Given the description of an element on the screen output the (x, y) to click on. 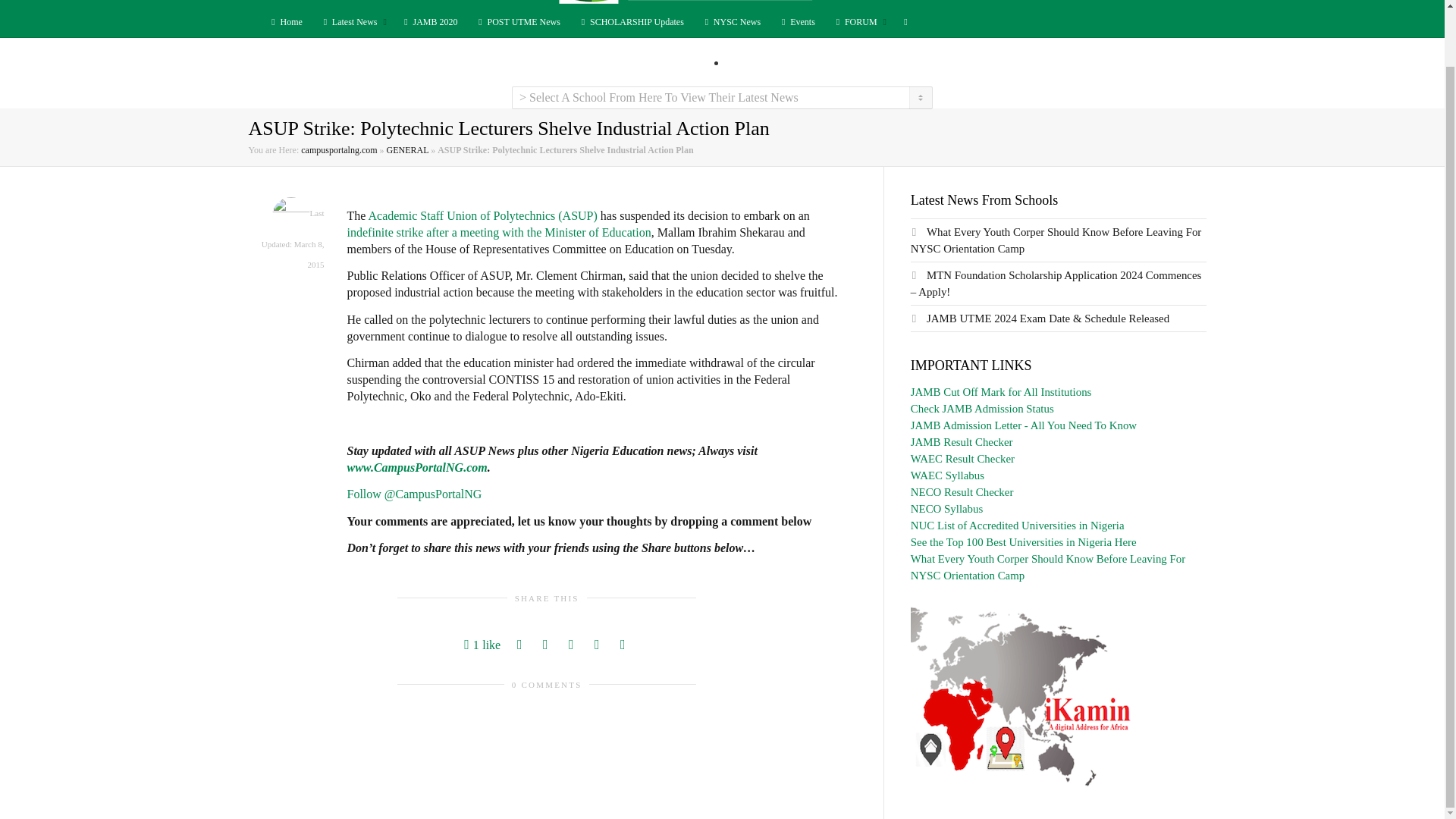
www.CampusPortalNG.com (417, 467)
Campus Portal Nigeria (721, 2)
JAMB Cut Off Mark for All Institutions (1001, 391)
Available Students Scholarships (631, 21)
NYSC News (730, 21)
Like this (482, 644)
Latest Nigeria Education News (352, 21)
Nigeria Students forum (857, 21)
NECO Result Checker (962, 491)
Events (796, 21)
Home (284, 21)
1 like (482, 644)
Latest POST UTME Infos (518, 21)
campusportalng.com (339, 149)
